Given the description of an element on the screen output the (x, y) to click on. 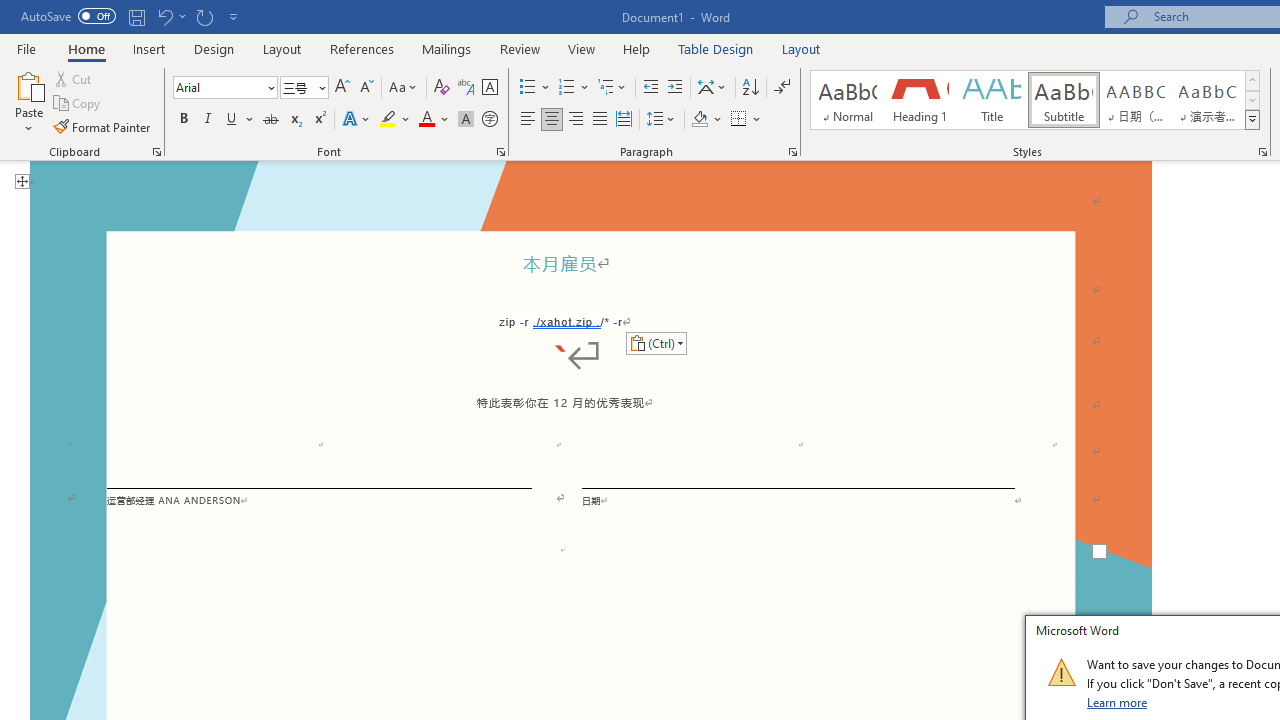
Insert (149, 48)
View (582, 48)
Styles (1252, 120)
Class: NetUIImage (1061, 671)
Layout (801, 48)
Distributed (623, 119)
Undo Paste (164, 15)
Underline (239, 119)
Quick Access Toolbar (131, 16)
References (362, 48)
Home (86, 48)
Multilevel List (613, 87)
Format Painter (103, 126)
